Given the description of an element on the screen output the (x, y) to click on. 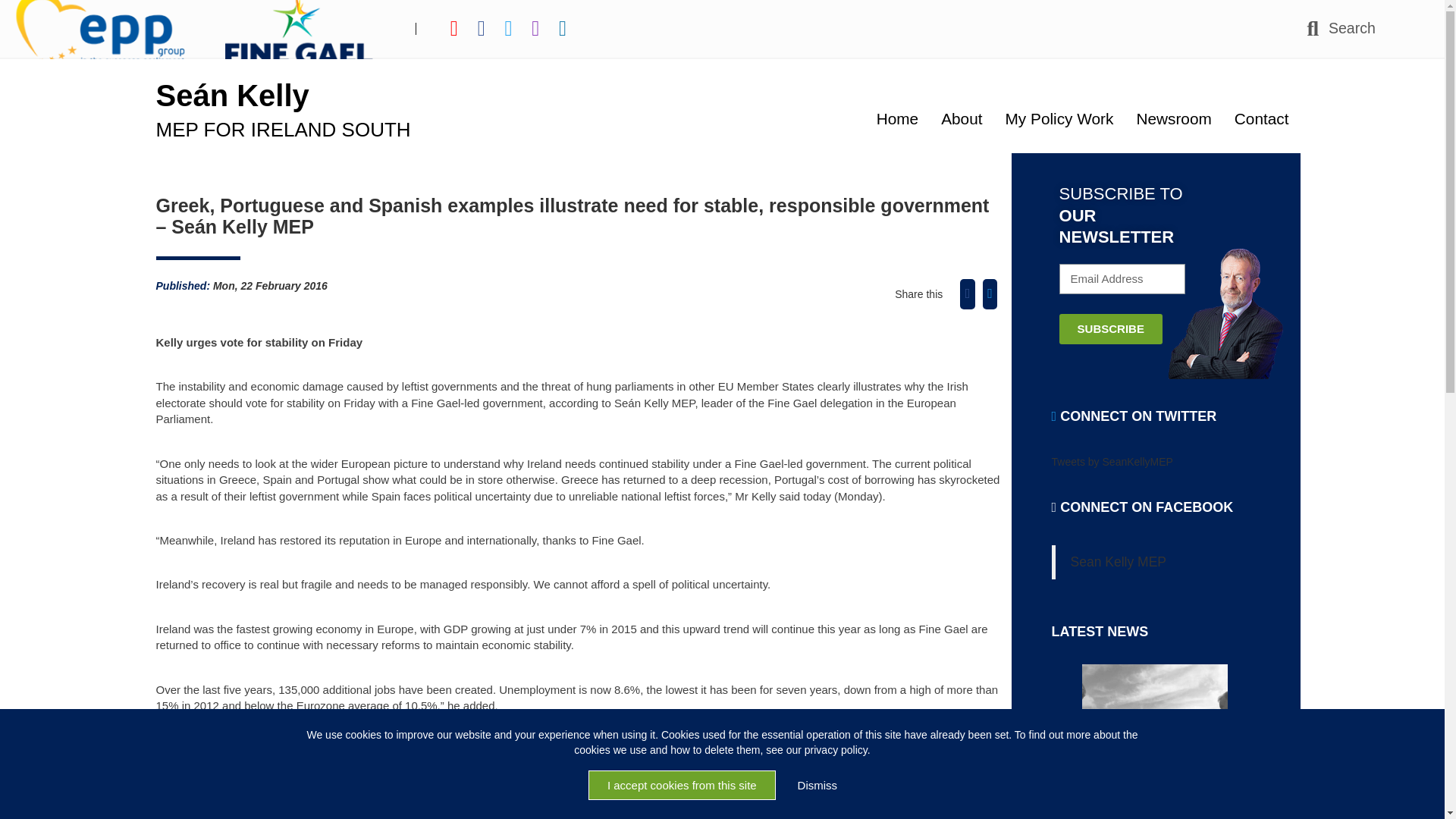
Sean Kelly MEP (1118, 561)
Home (897, 117)
My Policy Work (1059, 118)
About (961, 118)
My Policy Work (1059, 118)
About (961, 118)
Newsroom (1173, 118)
Contact (1261, 117)
Newsroom (1173, 118)
Tweets by SeanKellyMEP (1112, 461)
SUBSCRIBE (1110, 328)
Home (897, 117)
